Given the description of an element on the screen output the (x, y) to click on. 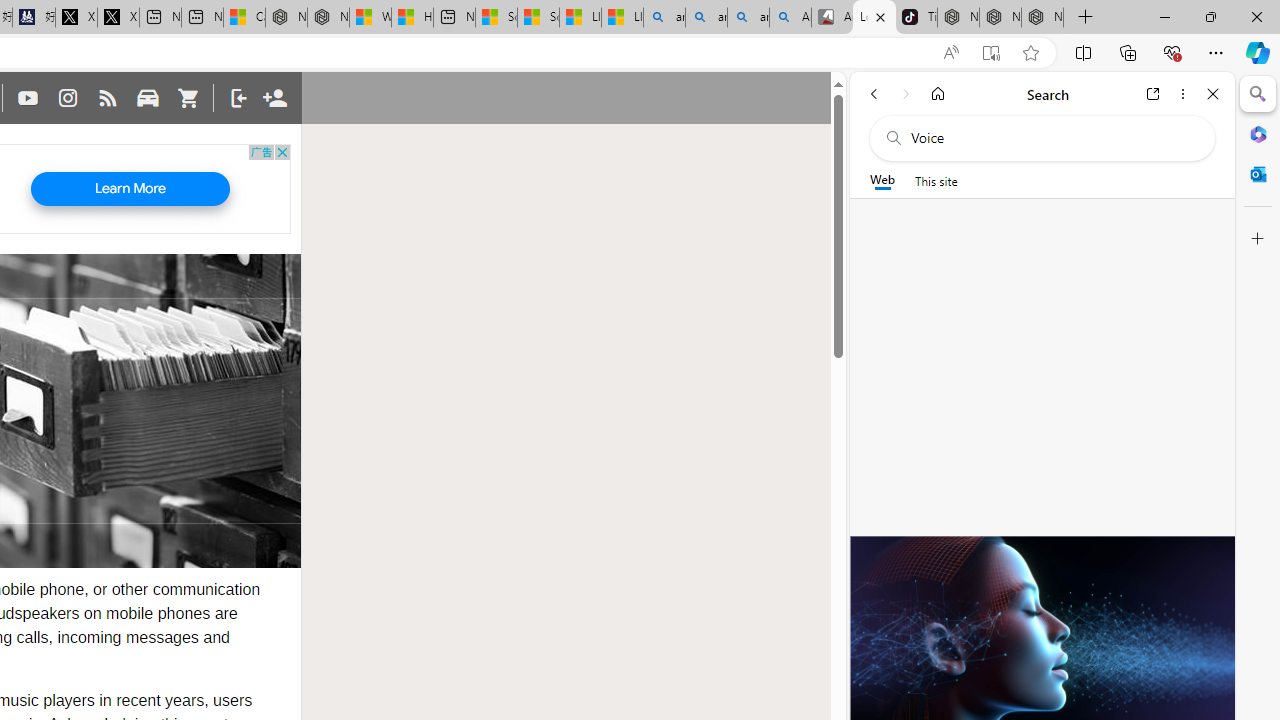
Home (938, 93)
Amazon Echo Robot - Search Images (790, 17)
Learn More (129, 189)
Nordace - Siena Pro 15 Essential Set (1042, 17)
Wildlife - MSN (369, 17)
Microsoft 365 (1258, 133)
Nordace Siena Pro 15 Backpack (1000, 17)
Loudspeaker - definition - GSMArena.com (873, 17)
